Given the description of an element on the screen output the (x, y) to click on. 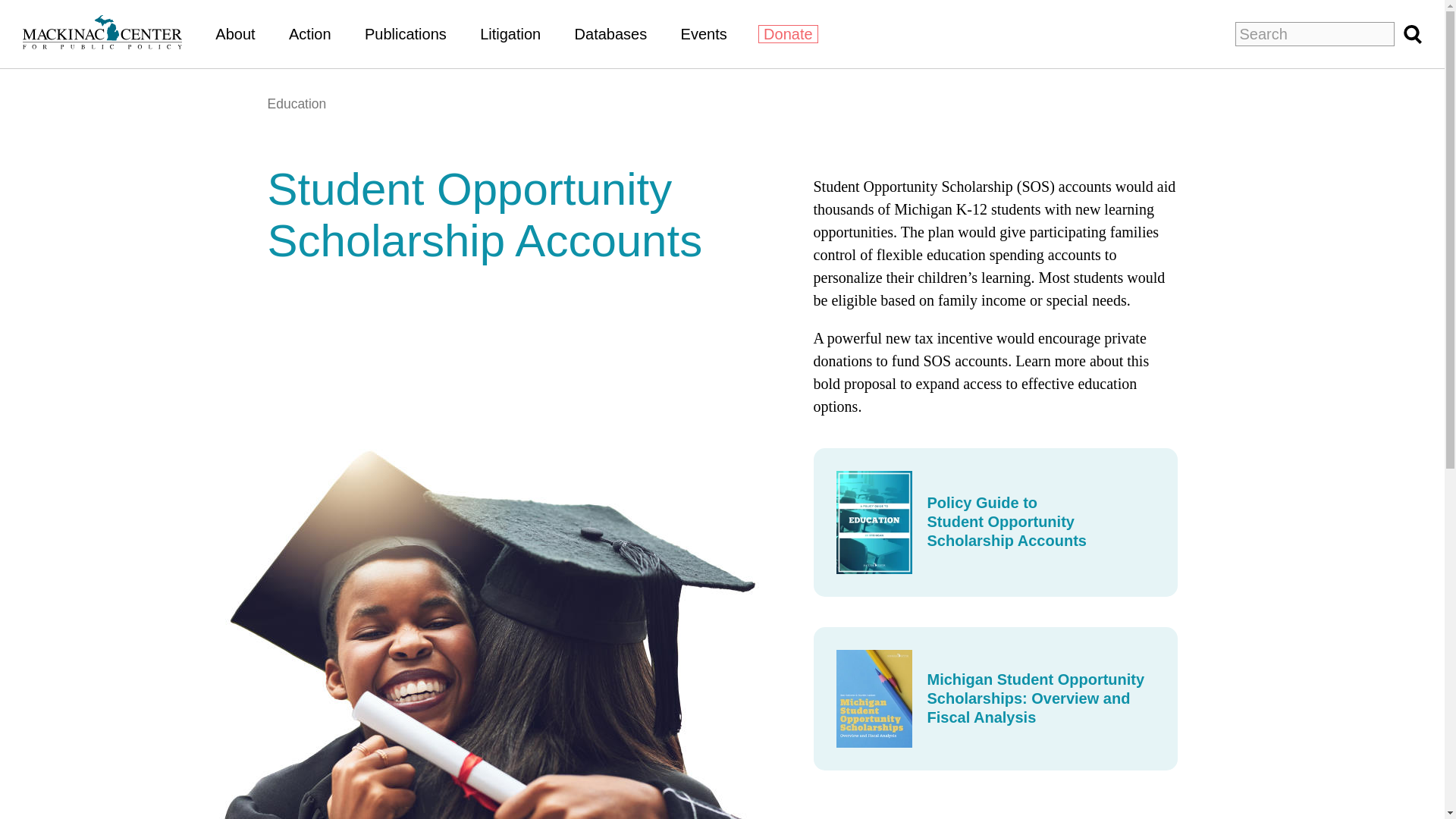
Publications (405, 33)
Action (309, 33)
Donate (788, 34)
Events (703, 33)
Databases (611, 33)
Policy Guide to Student Opportunity Scholarship Accounts (994, 522)
Education (296, 103)
About (234, 33)
Litigation (510, 33)
